Given the description of an element on the screen output the (x, y) to click on. 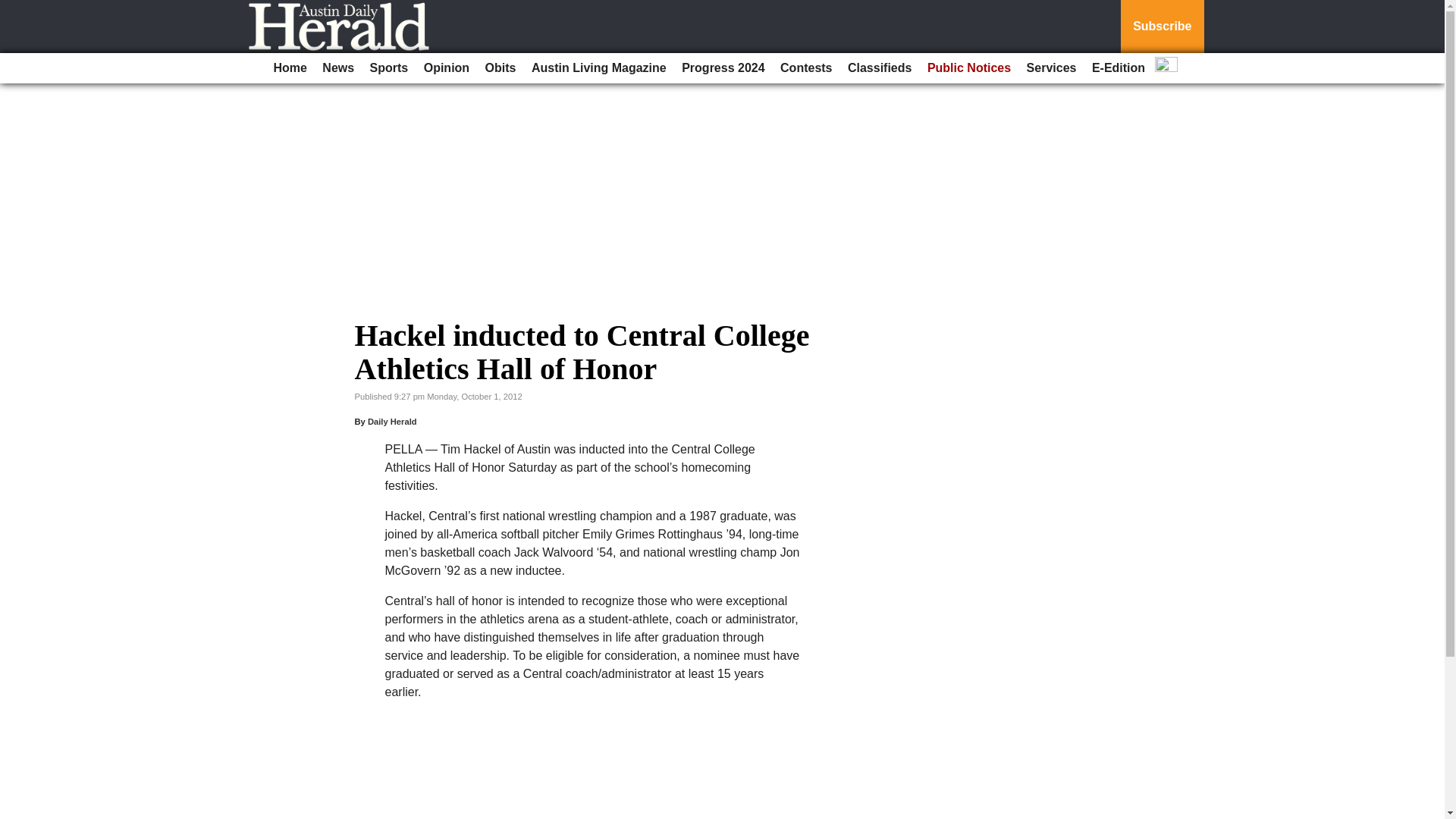
Contests (806, 68)
Home (289, 68)
Subscribe (1162, 26)
Opinion (446, 68)
Obits (500, 68)
Sports (389, 68)
Austin Living Magazine (598, 68)
Classifieds (879, 68)
Progress 2024 (722, 68)
Services (1051, 68)
